Given the description of an element on the screen output the (x, y) to click on. 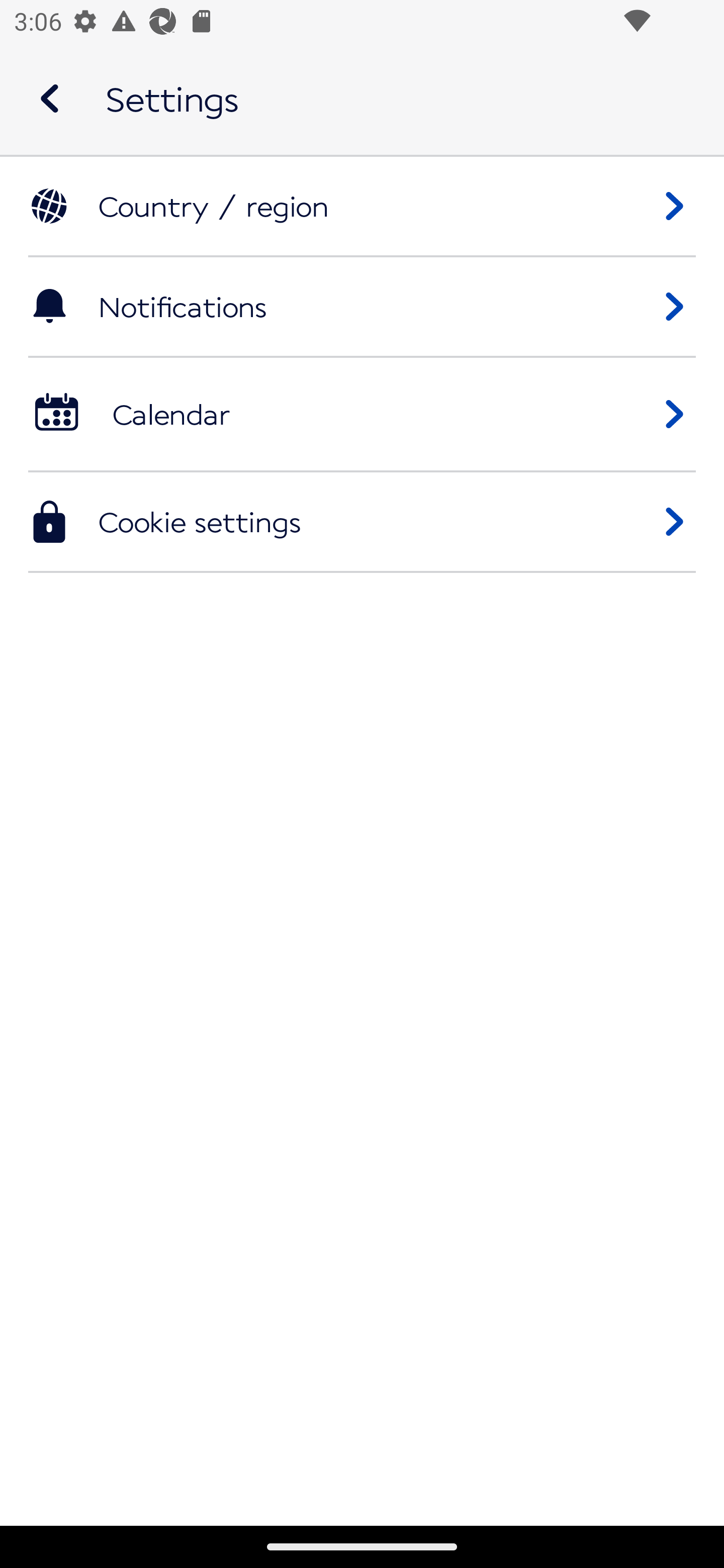
Country / region (362, 206)
Notifications (362, 307)
Calendar (362, 414)
Cookie settings (362, 521)
